Given the description of an element on the screen output the (x, y) to click on. 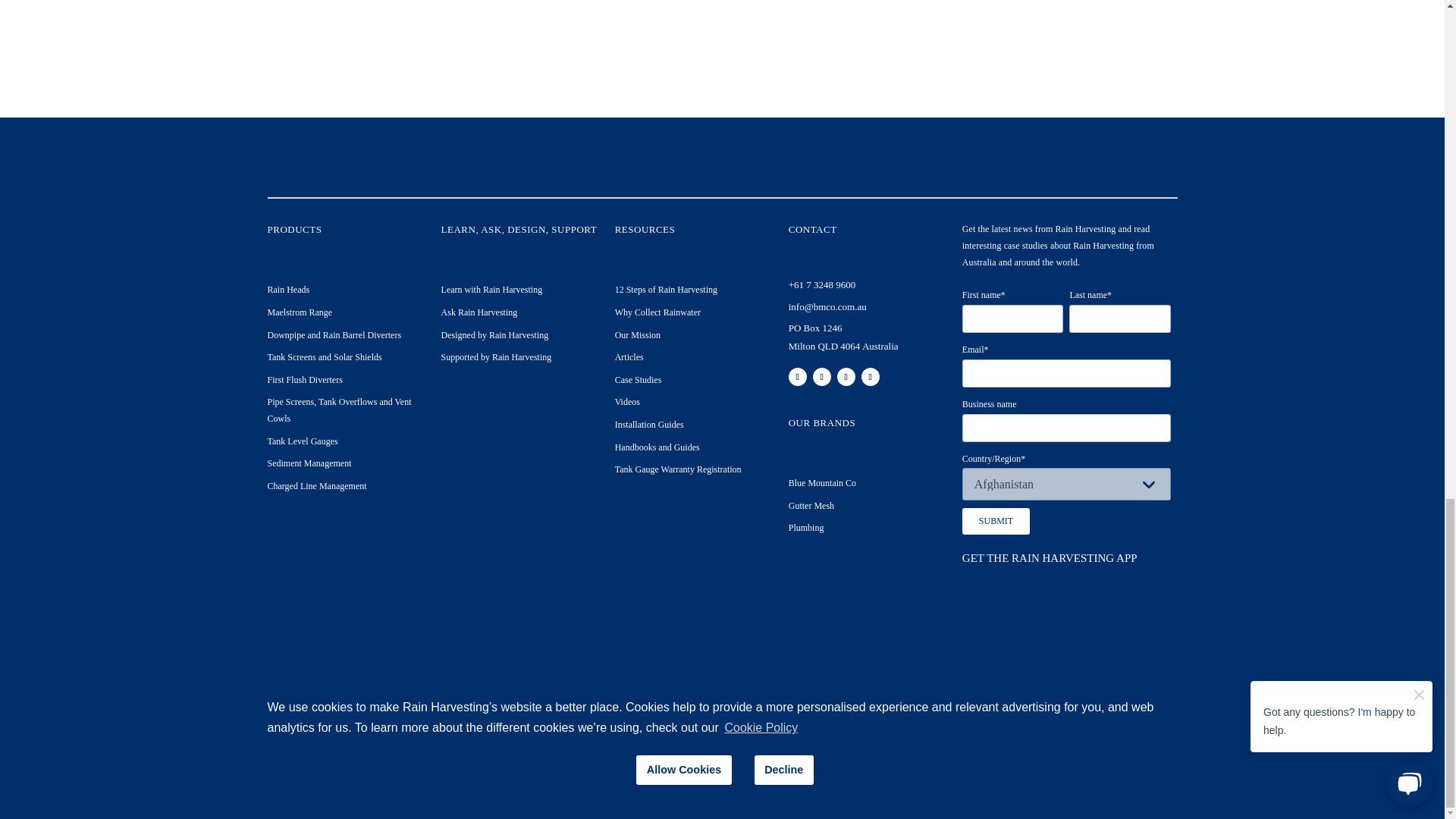
Submit (995, 520)
